Given the description of an element on the screen output the (x, y) to click on. 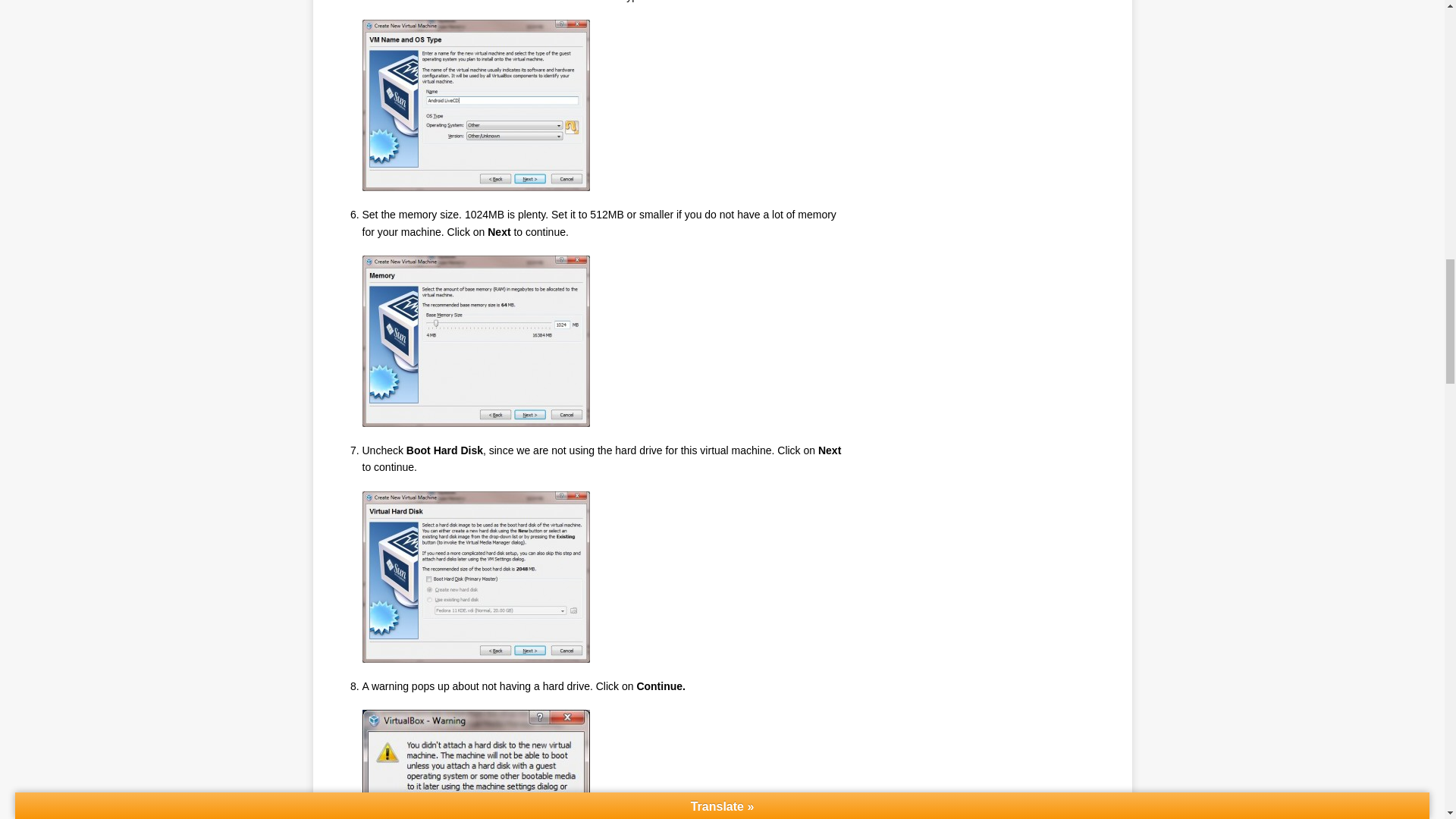
android05 (475, 764)
android04 (475, 576)
android03 (475, 340)
android02 (475, 104)
